Given the description of an element on the screen output the (x, y) to click on. 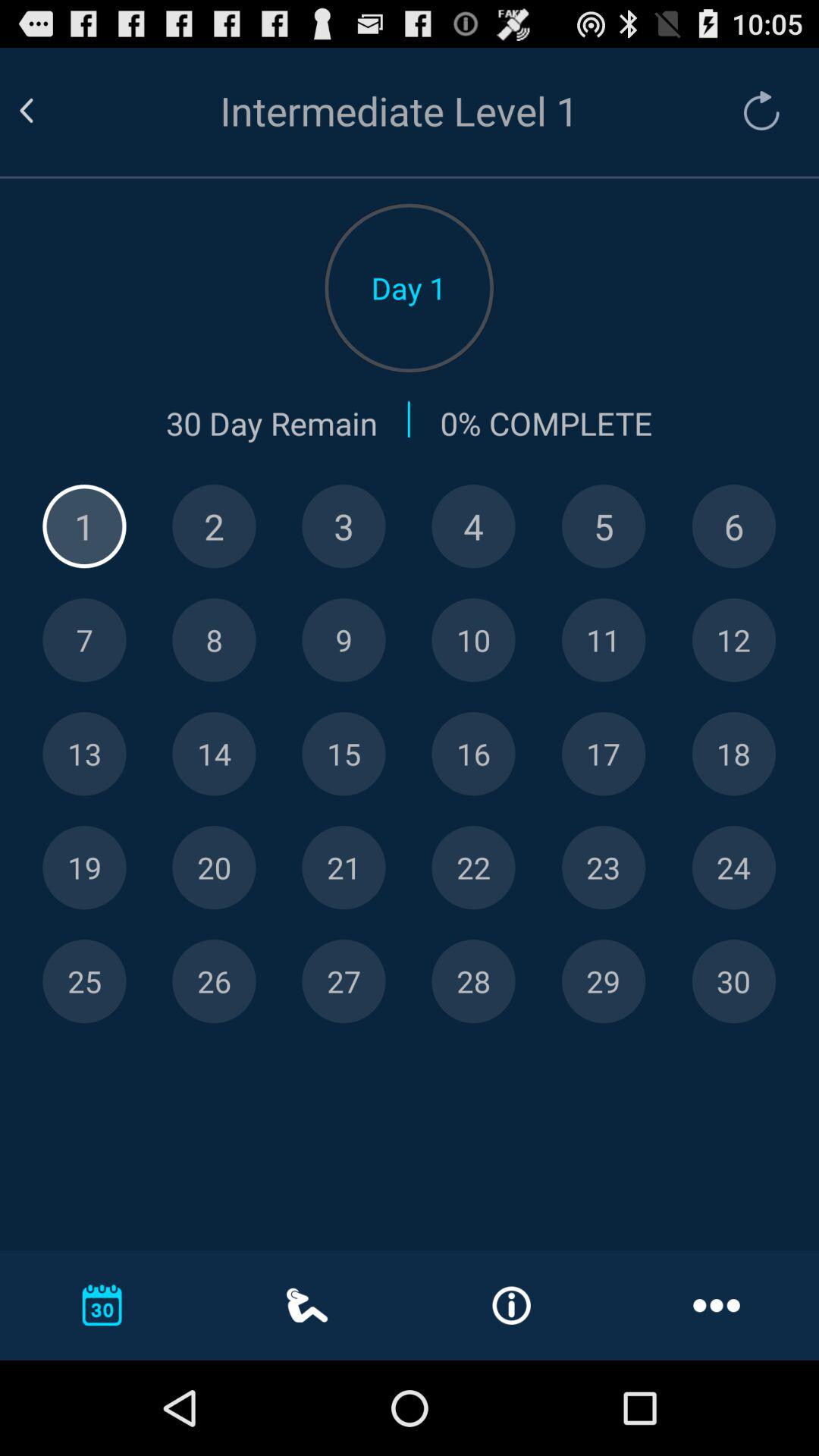
refresh app (754, 110)
